Given the description of an element on the screen output the (x, y) to click on. 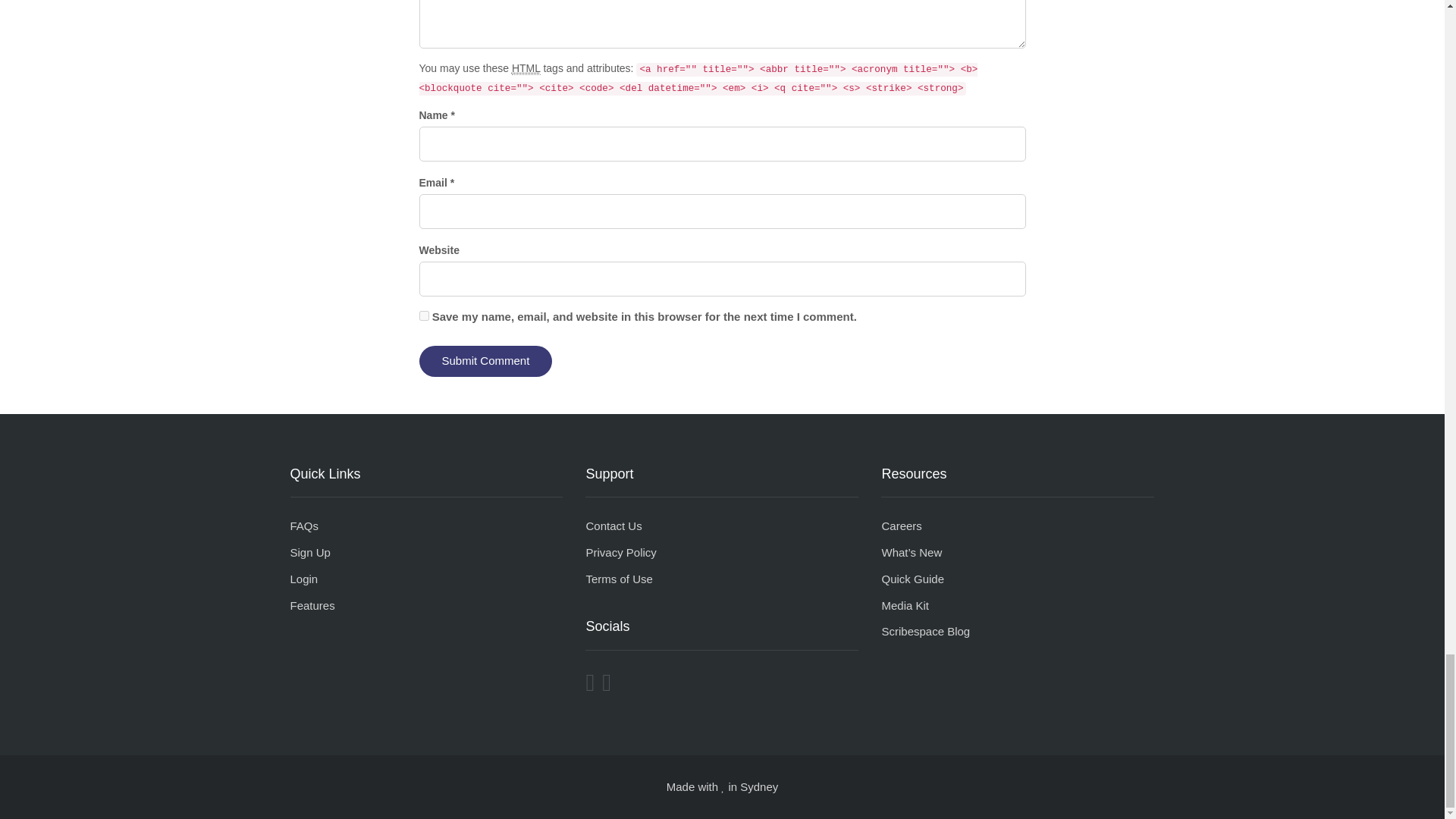
Media Kit (904, 604)
Scribespace Blog (924, 631)
Sign Up (309, 552)
Login (303, 578)
HyperText Markup Language (526, 68)
Submit Comment (485, 360)
Privacy Policy (620, 552)
yes (423, 316)
Terms of Use (618, 578)
Contact Us (613, 525)
